Given the description of an element on the screen output the (x, y) to click on. 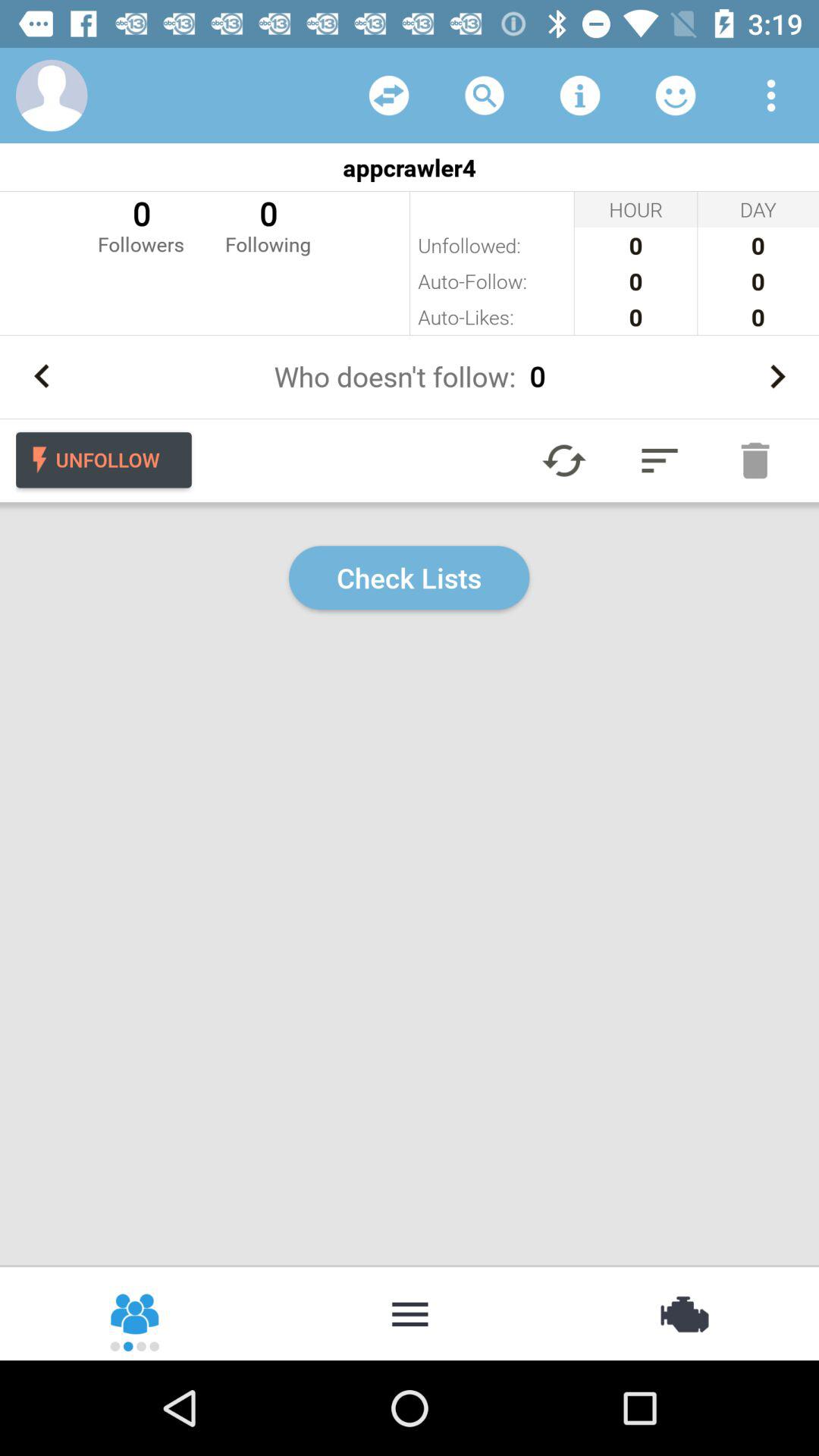
go back to the previous page (41, 376)
